Given the description of an element on the screen output the (x, y) to click on. 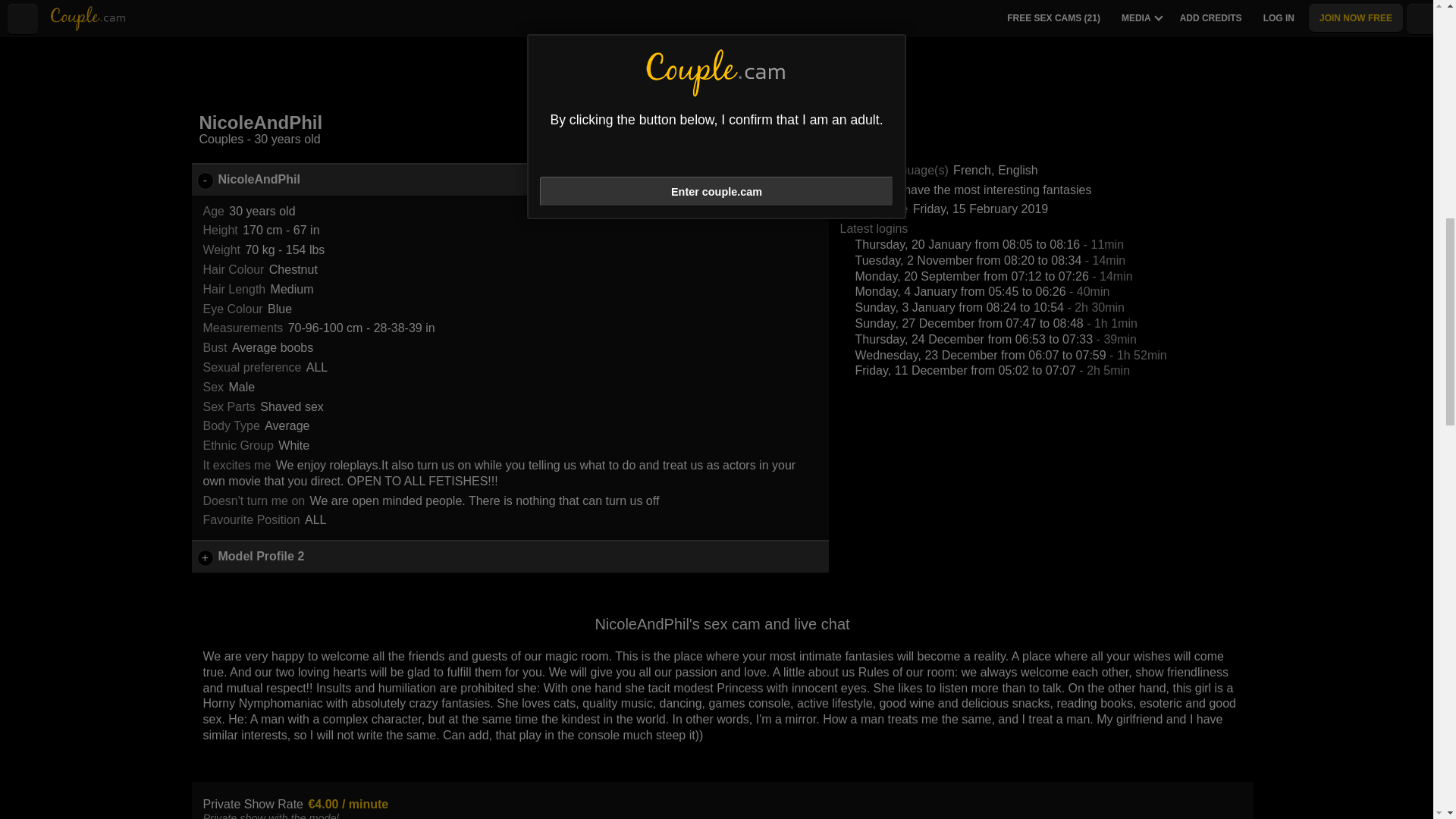
NicoleAndPhil (509, 179)
Messages (833, 10)
Comments (769, 10)
About me (610, 10)
Model Profile 2 (509, 556)
